Given the description of an element on the screen output the (x, y) to click on. 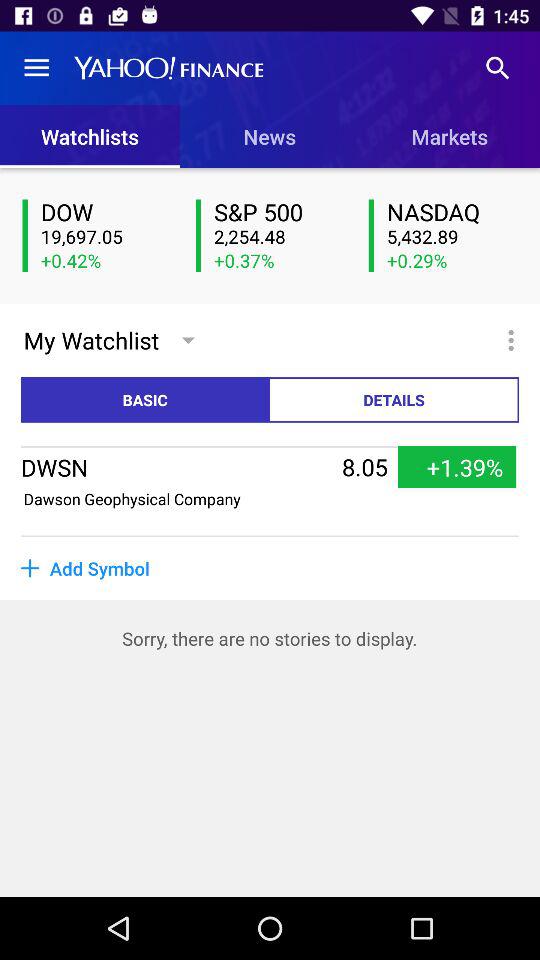
turn on the item to the left of 8.05 (131, 498)
